Given the description of an element on the screen output the (x, y) to click on. 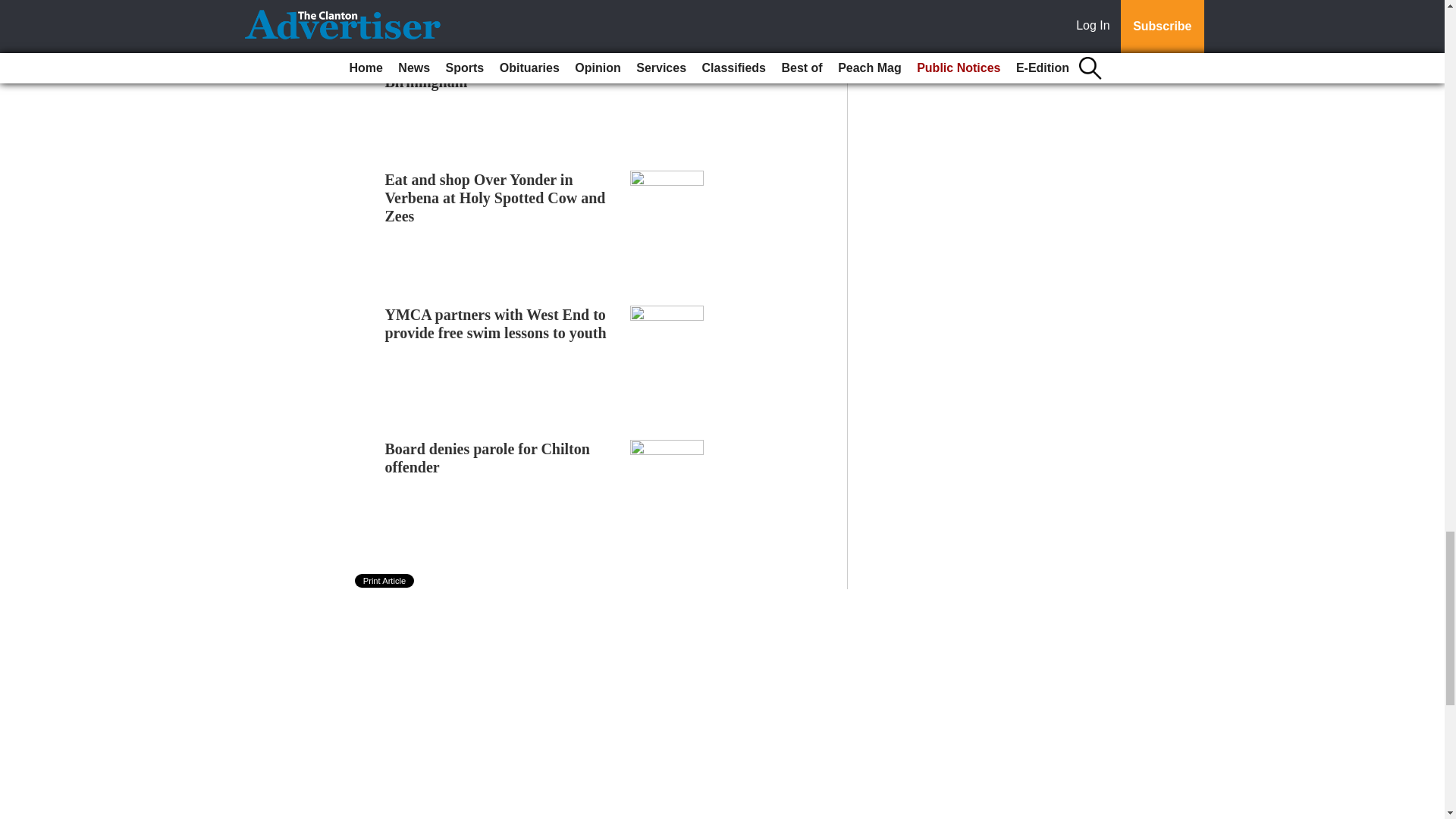
Print Article (384, 581)
Board denies parole for Chilton offender (487, 457)
Board denies parole for Chilton offender (487, 457)
